Given the description of an element on the screen output the (x, y) to click on. 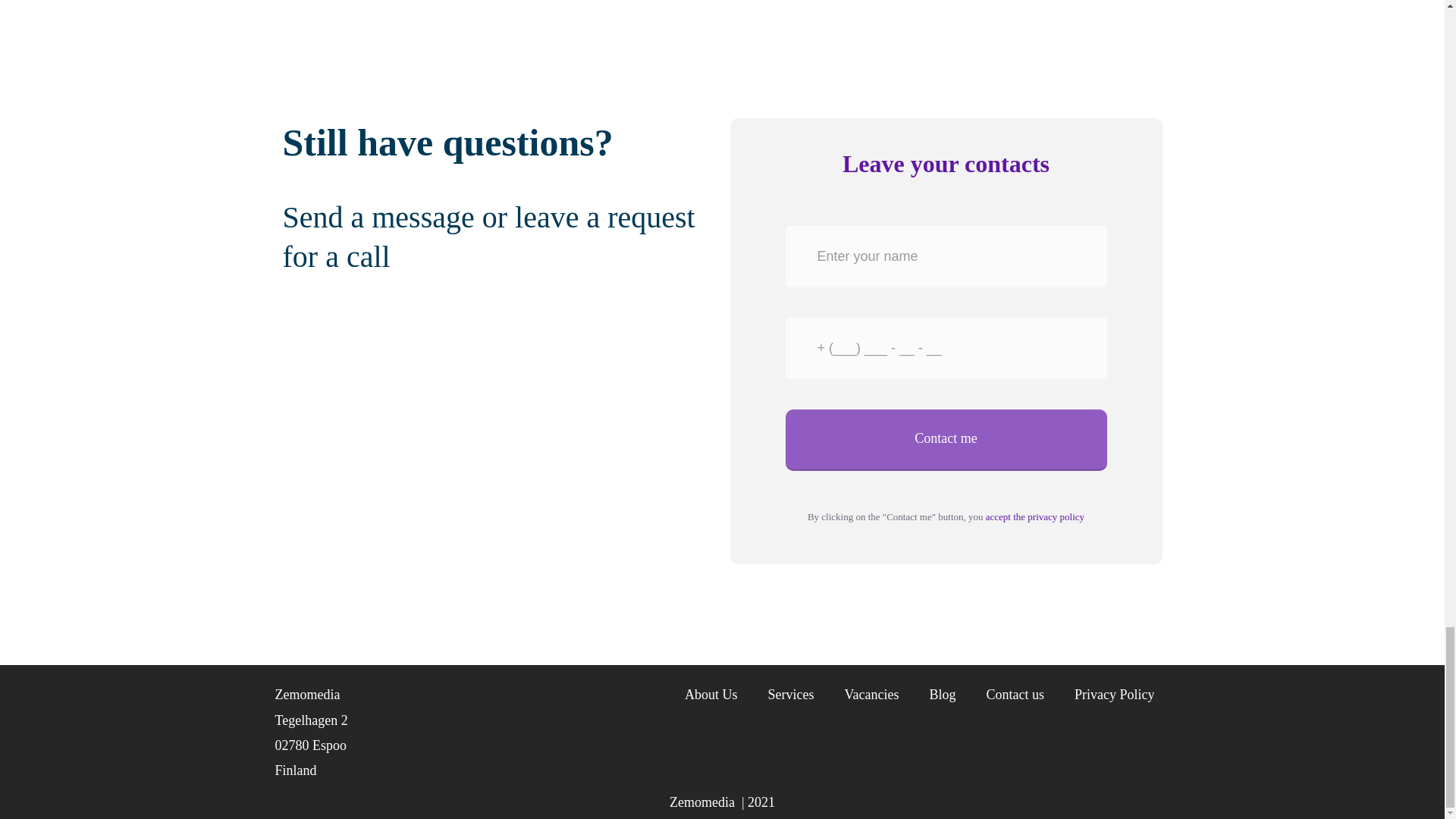
accept the privacy policy (1034, 516)
Vacancies (871, 694)
Contact me (946, 439)
Blog (941, 694)
Zemomedia   (705, 802)
Privacy Policy (1114, 694)
About Us (711, 694)
Contact me (946, 439)
Services (790, 694)
